Given the description of an element on the screen output the (x, y) to click on. 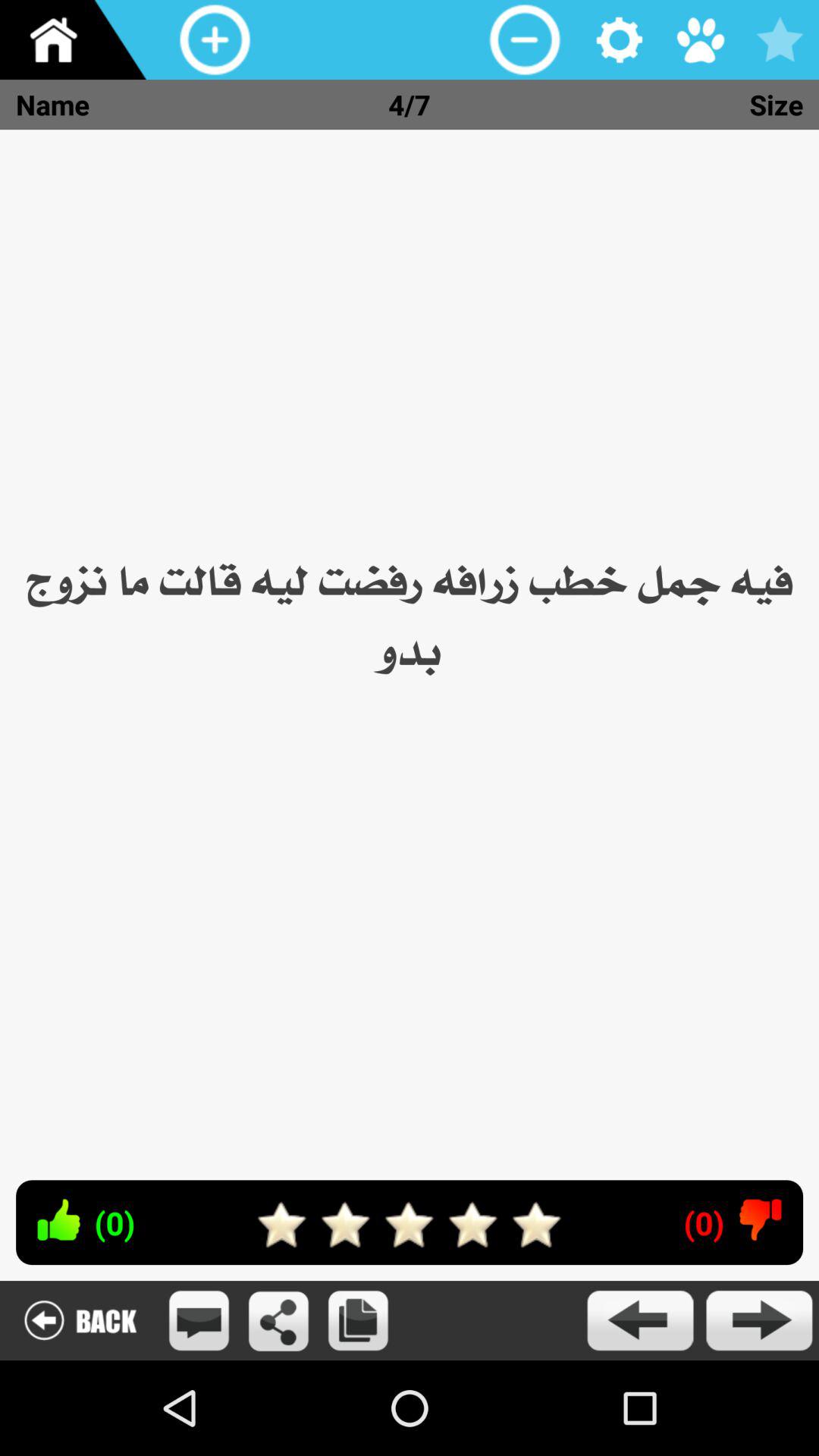
copy image (358, 1320)
